Given the description of an element on the screen output the (x, y) to click on. 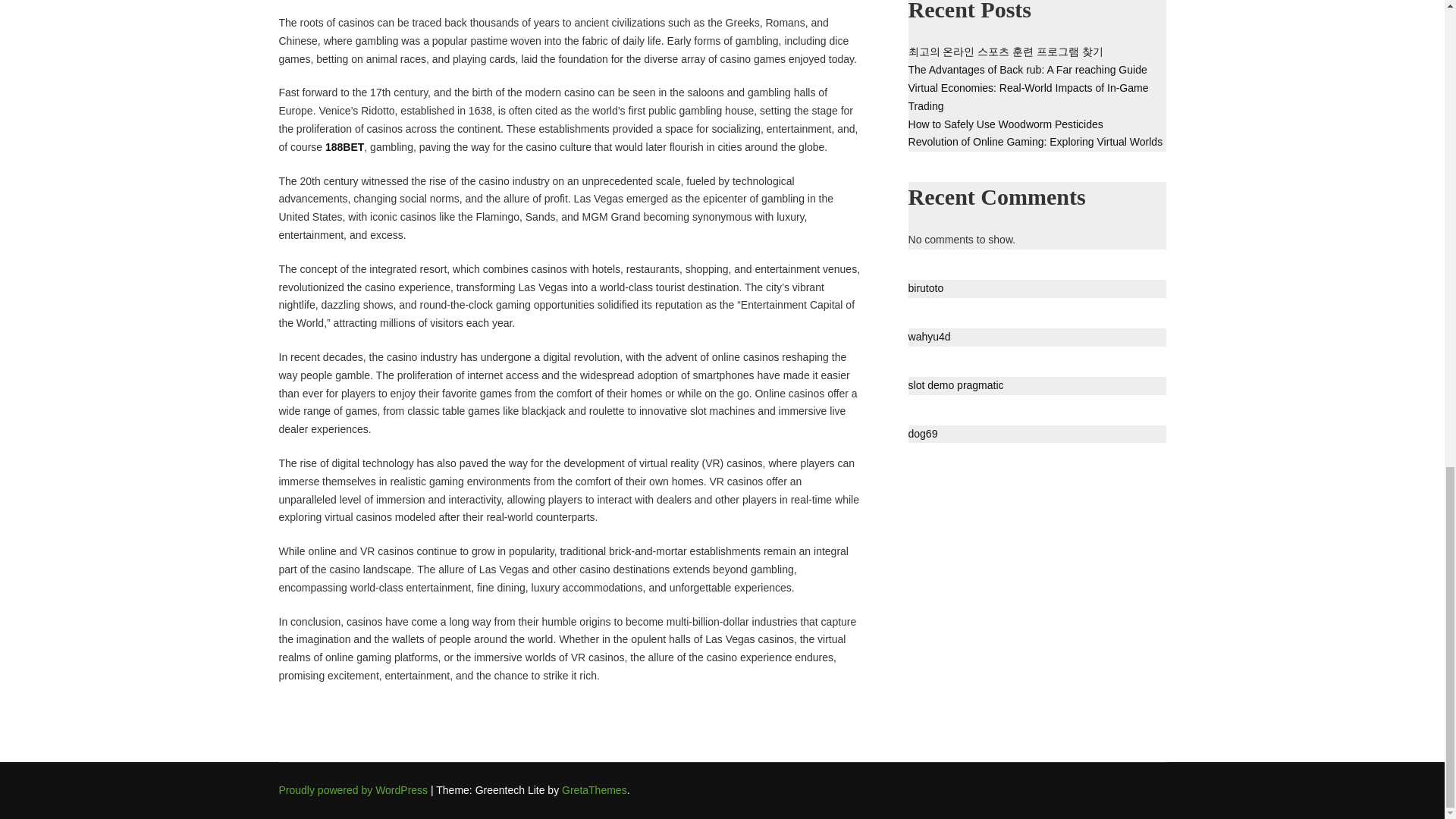
188BET (344, 146)
The Advantages of Back rub: A Far reaching Guide (1027, 69)
Virtual Economies: Real-World Impacts of In-Game Trading (1028, 96)
How to Safely Use Woodworm Pesticides (1005, 123)
